Given the description of an element on the screen output the (x, y) to click on. 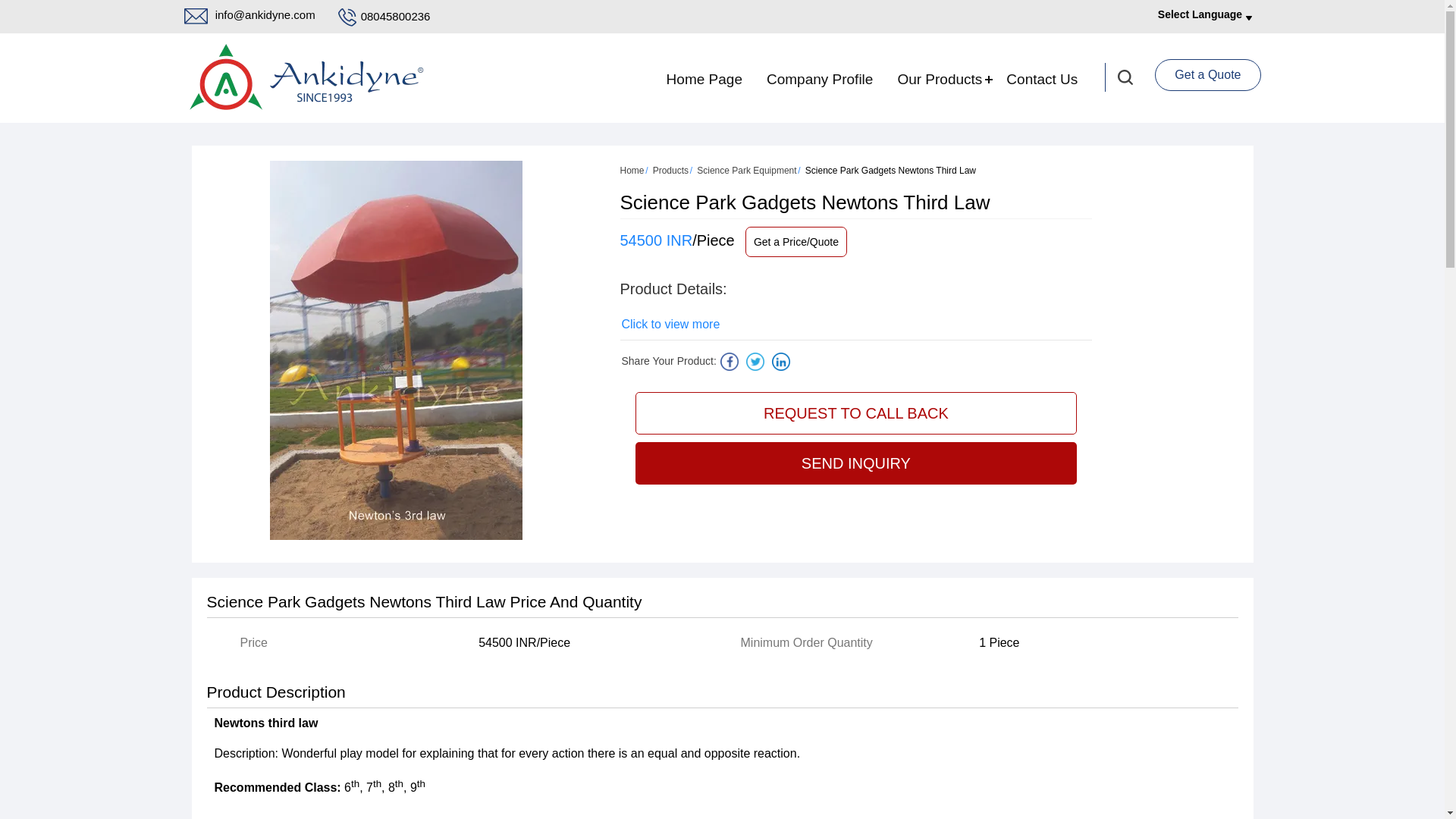
Select Language (1200, 13)
Home Page (703, 79)
Our Products (939, 79)
Company Profile (819, 79)
